Given the description of an element on the screen output the (x, y) to click on. 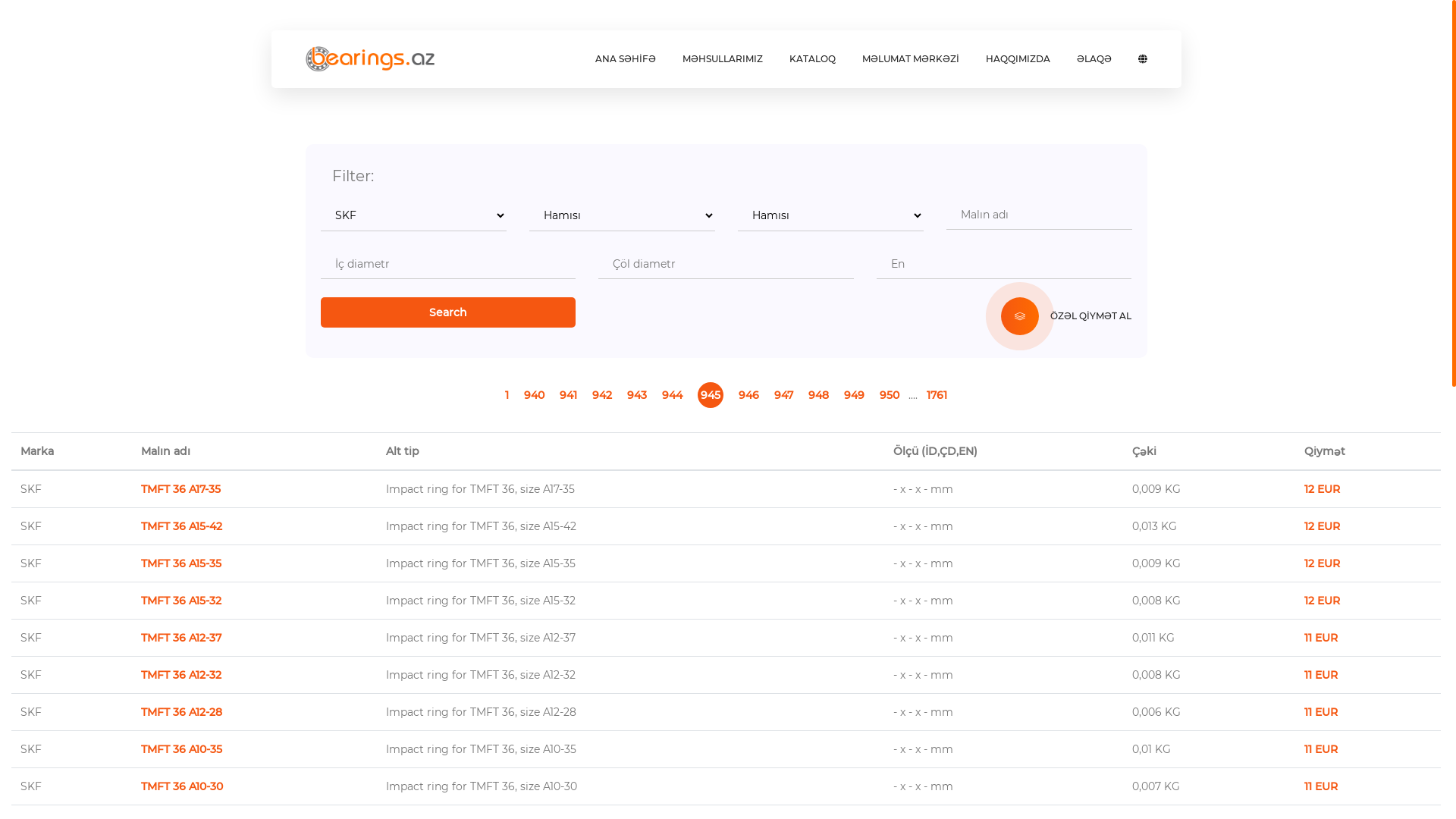
949 Element type: text (854, 394)
HAQQIMIZDA Element type: text (1017, 58)
948 Element type: text (818, 394)
947 Element type: text (783, 394)
Search Element type: text (447, 312)
941 Element type: text (568, 394)
942 Element type: text (601, 394)
943 Element type: text (636, 394)
945 Element type: text (710, 394)
940 Element type: text (534, 394)
KATALOQ Element type: text (811, 58)
950 Element type: text (889, 394)
1 Element type: text (506, 394)
944 Element type: text (672, 394)
946 Element type: text (748, 394)
1761 Element type: text (936, 394)
